Given the description of an element on the screen output the (x, y) to click on. 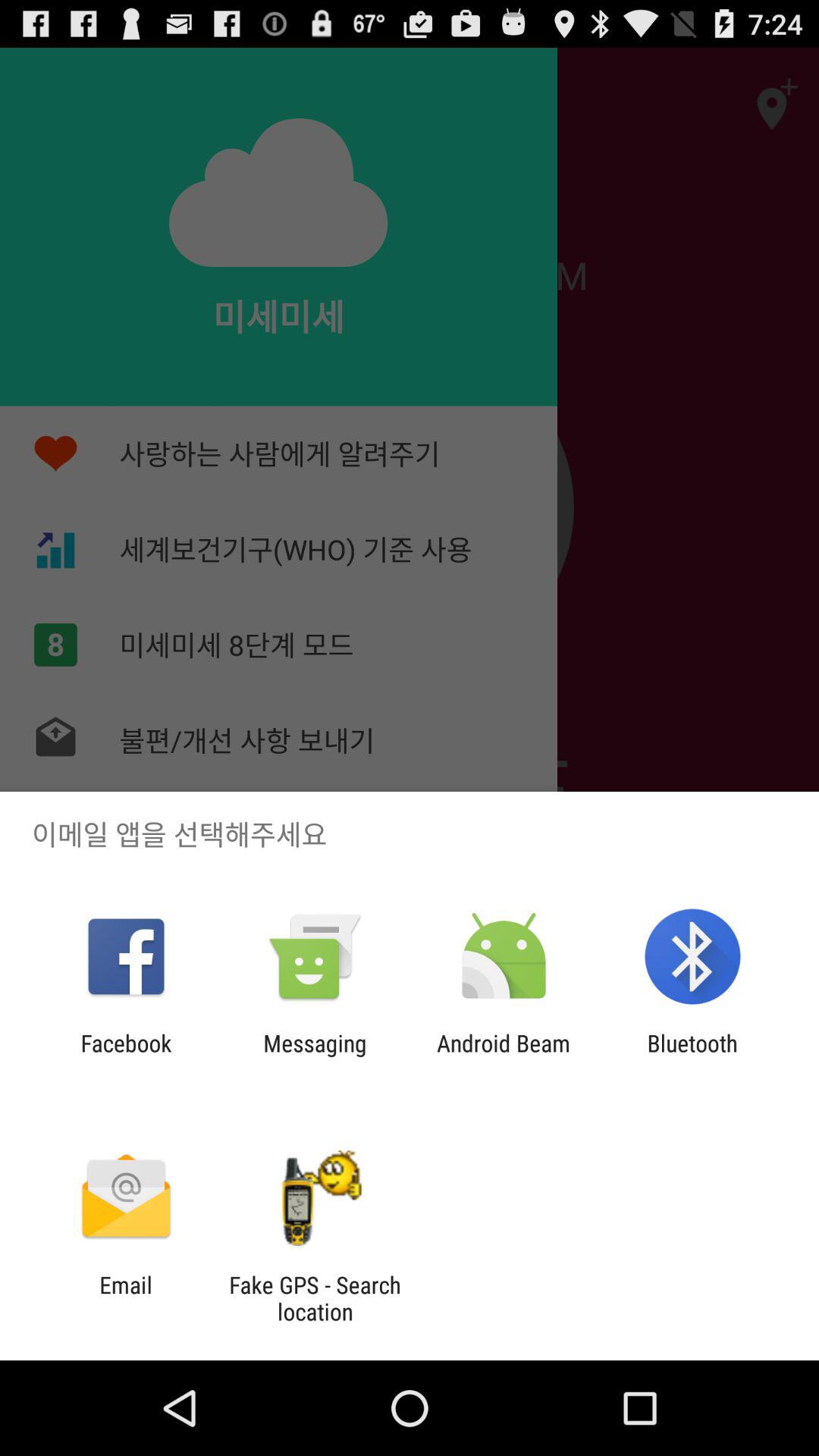
open item next to messaging icon (125, 1056)
